Given the description of an element on the screen output the (x, y) to click on. 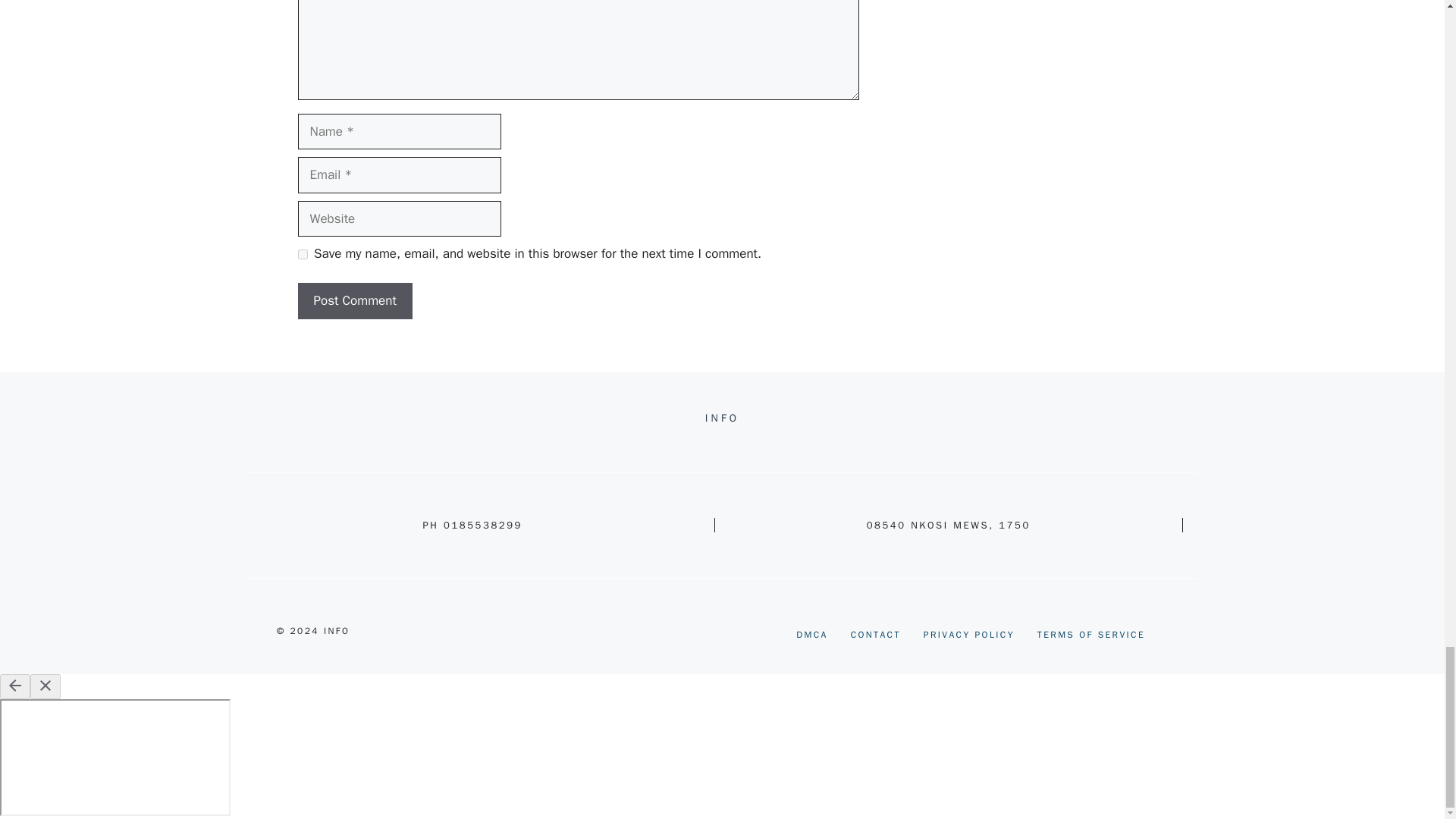
Post Comment (354, 300)
yes (302, 254)
DMCA (812, 634)
Post Comment (354, 300)
